Given the description of an element on the screen output the (x, y) to click on. 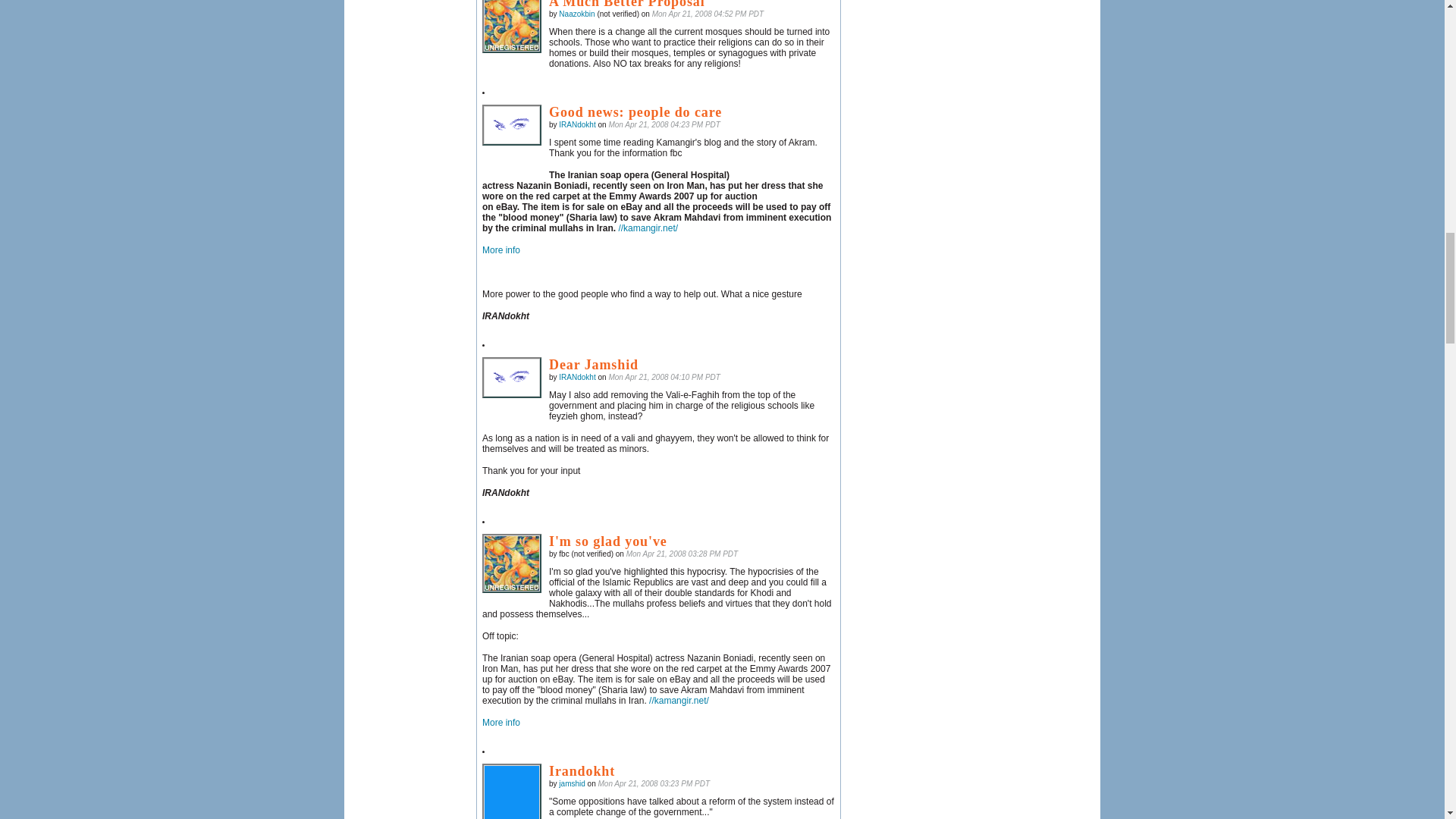
IRANdokht (511, 124)
View user profile. (577, 124)
View user profile. (577, 377)
default (511, 26)
IRANdokht (511, 377)
